Given the description of an element on the screen output the (x, y) to click on. 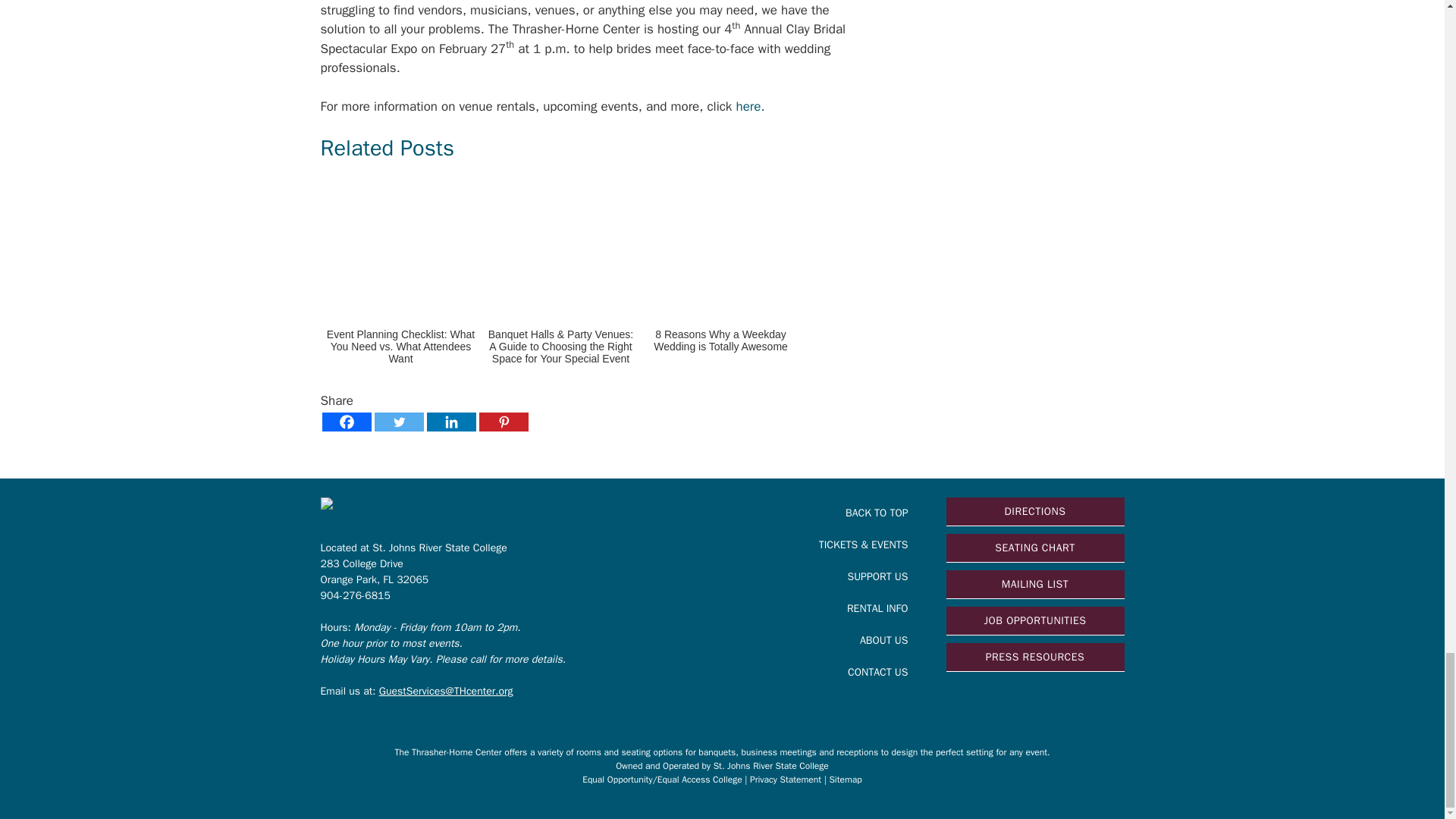
Facebook (346, 421)
Twitter (398, 421)
Pinterest (503, 421)
Linkedin (451, 421)
